Given the description of an element on the screen output the (x, y) to click on. 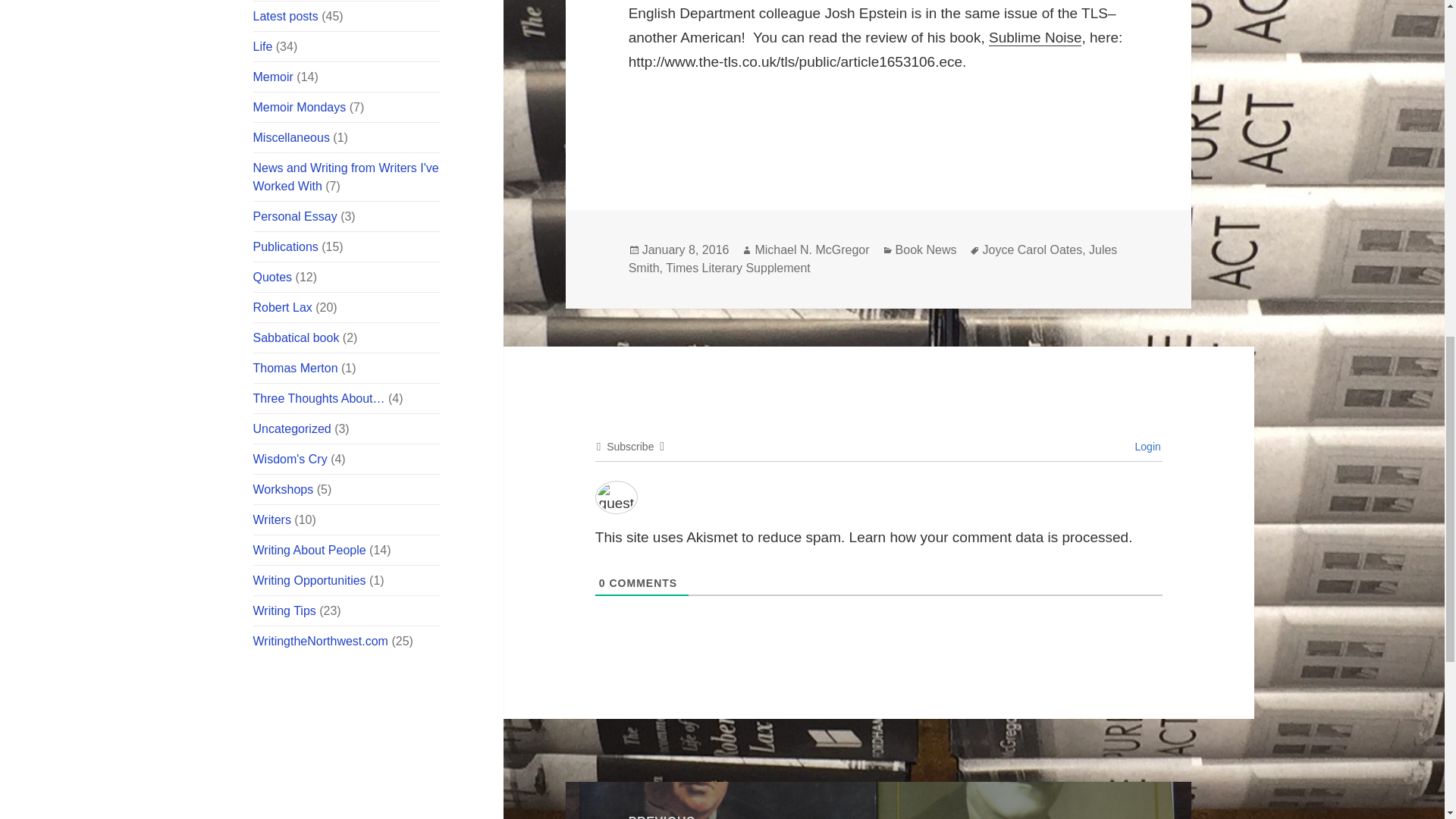
Uncategorized (292, 428)
WritingtheNorthwest.com (320, 640)
Writing Opportunities (309, 580)
Latest posts (285, 15)
News and Writing from Writers I've Worked With (346, 176)
Publications (285, 246)
Memoir Mondays (299, 106)
Wisdom's Cry (290, 459)
Life (263, 46)
Writing About People (309, 549)
